Given the description of an element on the screen output the (x, y) to click on. 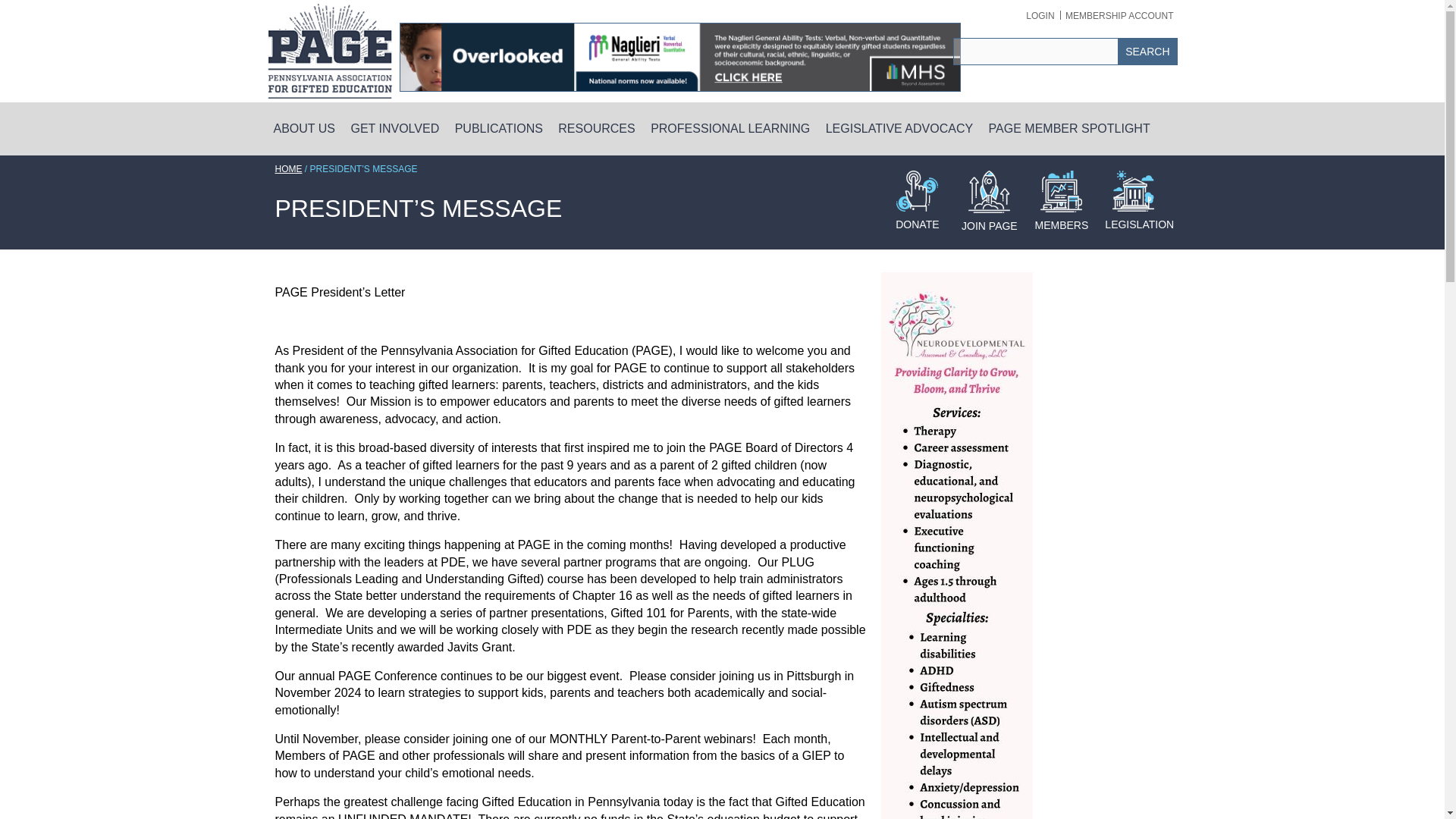
Search (1147, 51)
Search (1147, 51)
Search for: (1035, 51)
